Given the description of an element on the screen output the (x, y) to click on. 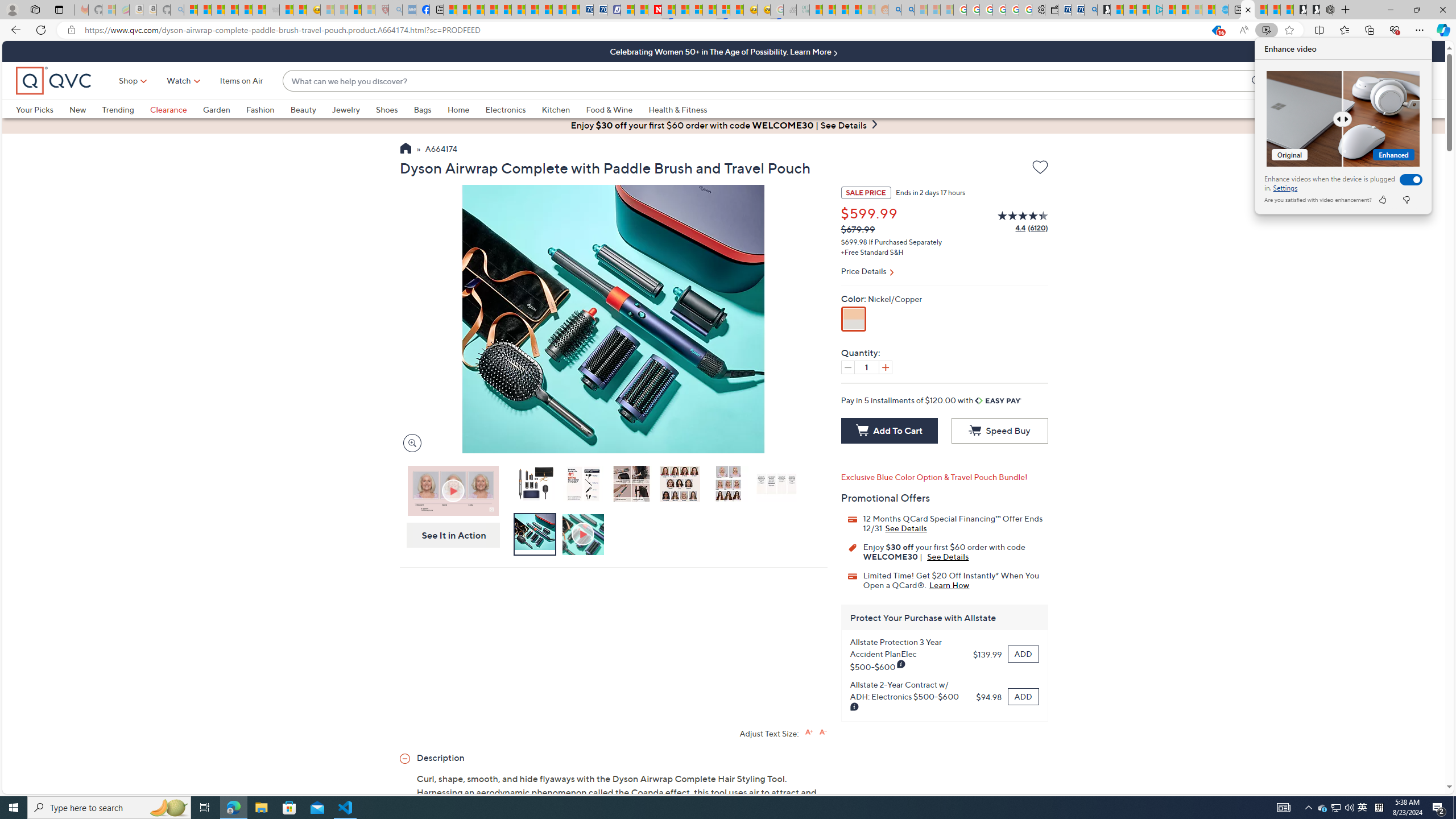
Beauty (310, 109)
Cheap Hotels - Save70.com (599, 9)
If Purchased Separately (904, 241)
Dyson Airwrap Complete with Paddle Brush and Travel Pouch (533, 483)
Microsoft Edge - 1 running window (233, 807)
Magnify Image (411, 442)
Enhance videos (1407, 179)
Trending (117, 109)
